Given the description of an element on the screen output the (x, y) to click on. 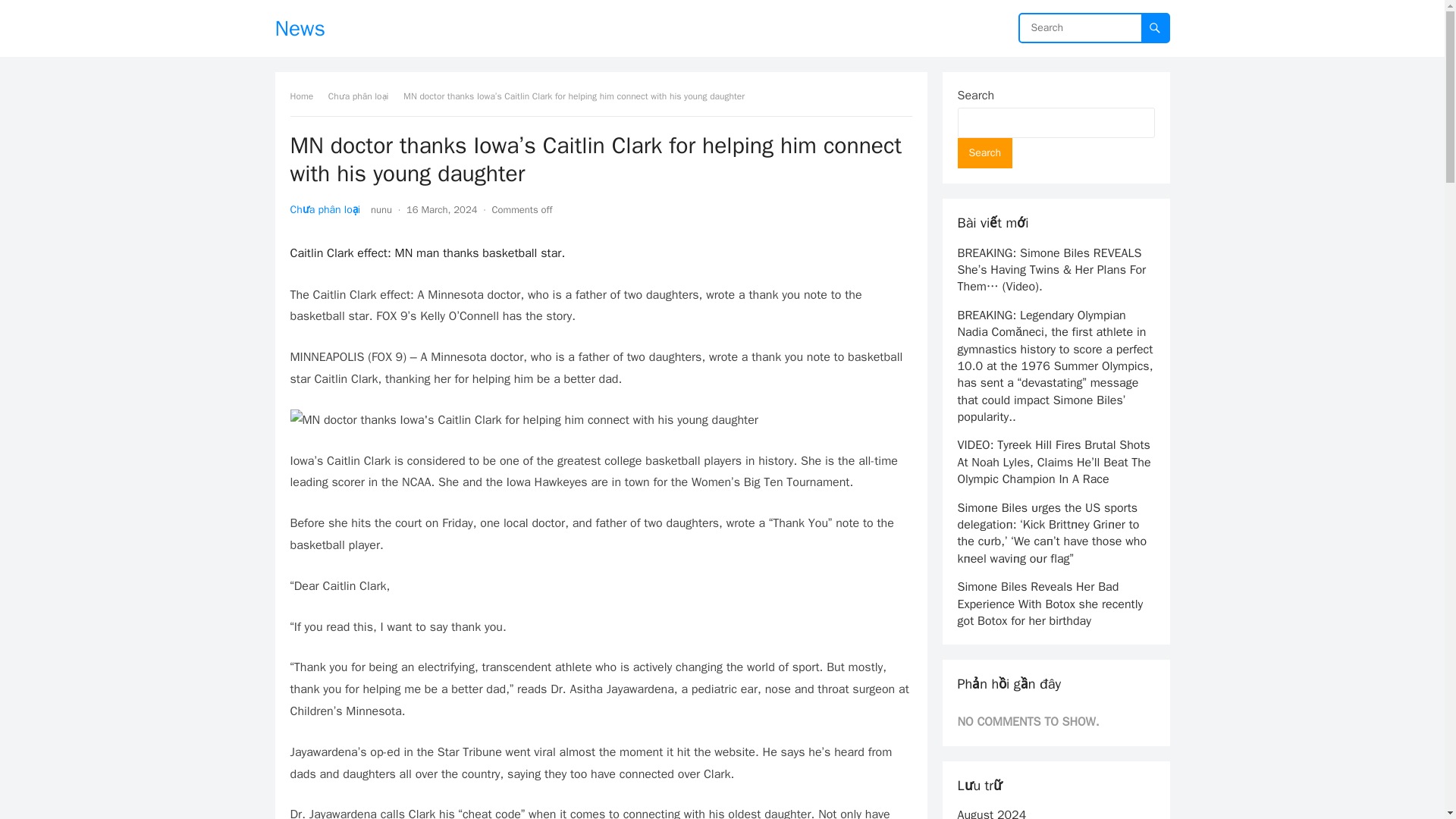
News (299, 28)
Home (306, 96)
Posts by nunu (381, 209)
nunu (381, 209)
